Given the description of an element on the screen output the (x, y) to click on. 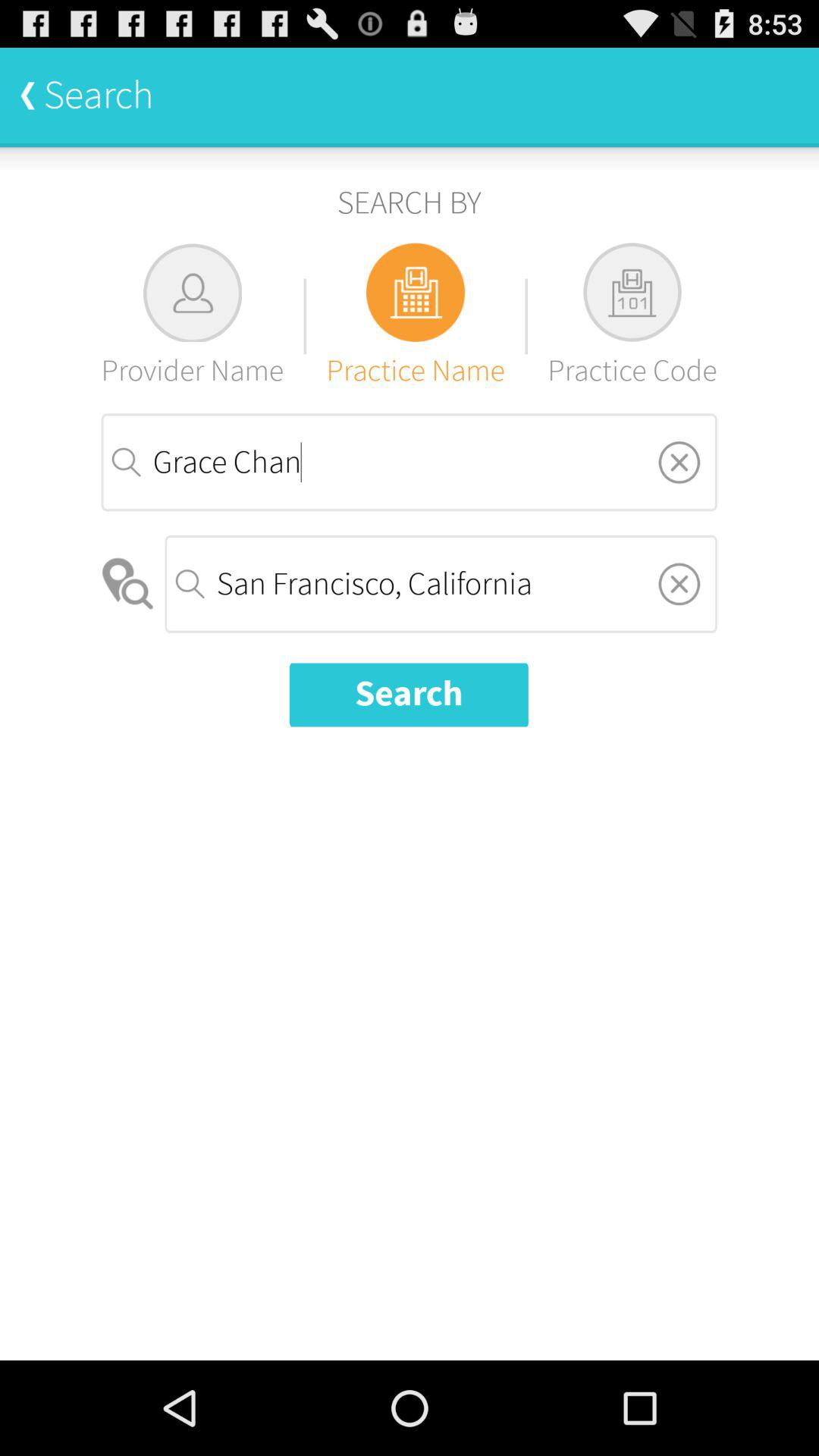
press the icon below the grace chan (128, 583)
